Given the description of an element on the screen output the (x, y) to click on. 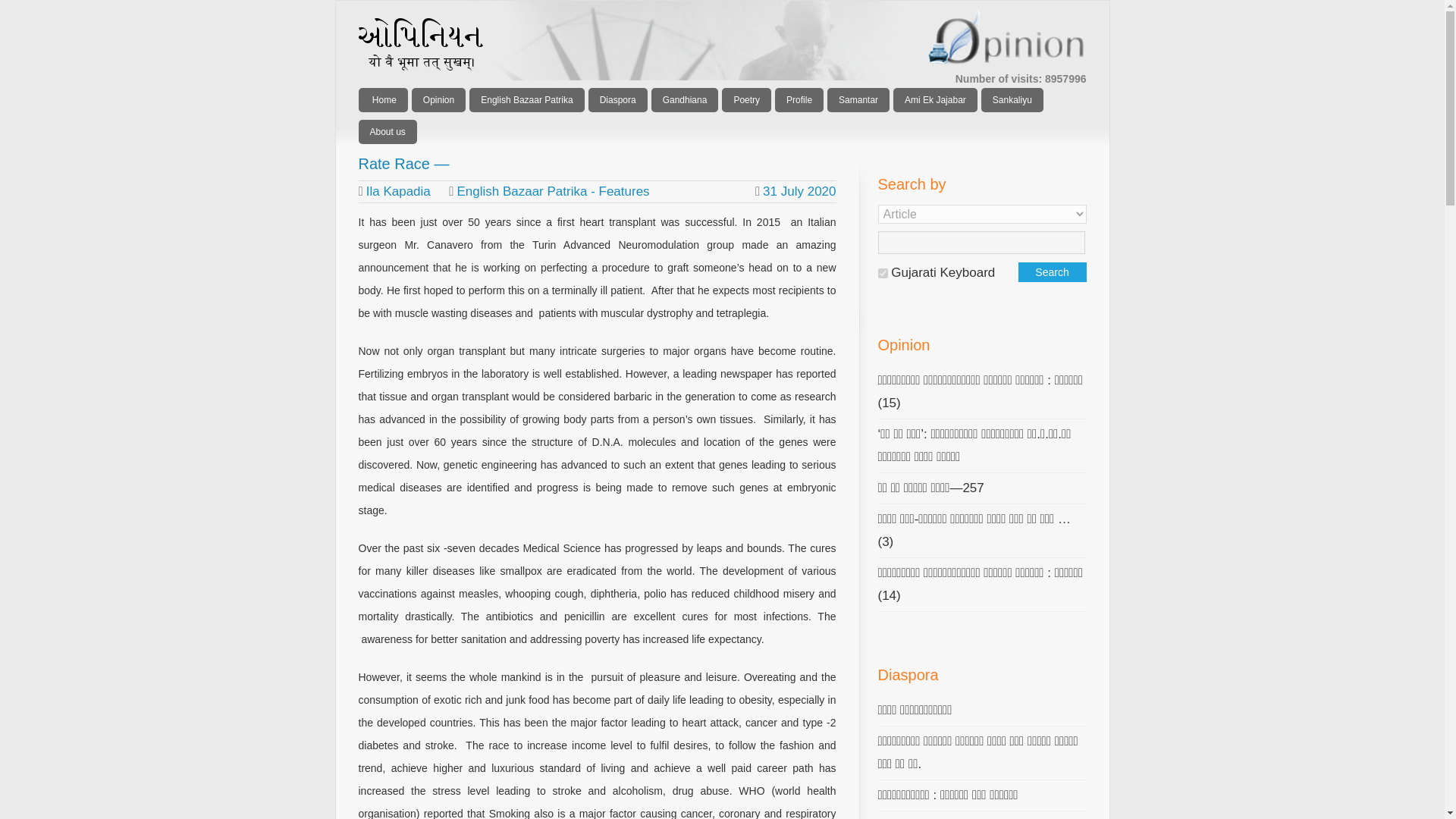
Poetry (746, 99)
Samantar (858, 99)
31 July 2020 (795, 191)
English Bazaar Patrika - Features (553, 191)
Opinion (438, 99)
Profile (799, 99)
About us (387, 131)
Sankaliyu (1012, 99)
Search (1051, 271)
Diaspora (617, 99)
on (882, 273)
English Bazaar Patrika (525, 99)
Gandhiana (684, 99)
Ila Kapadia (398, 191)
 Home (382, 99)
